Given the description of an element on the screen output the (x, y) to click on. 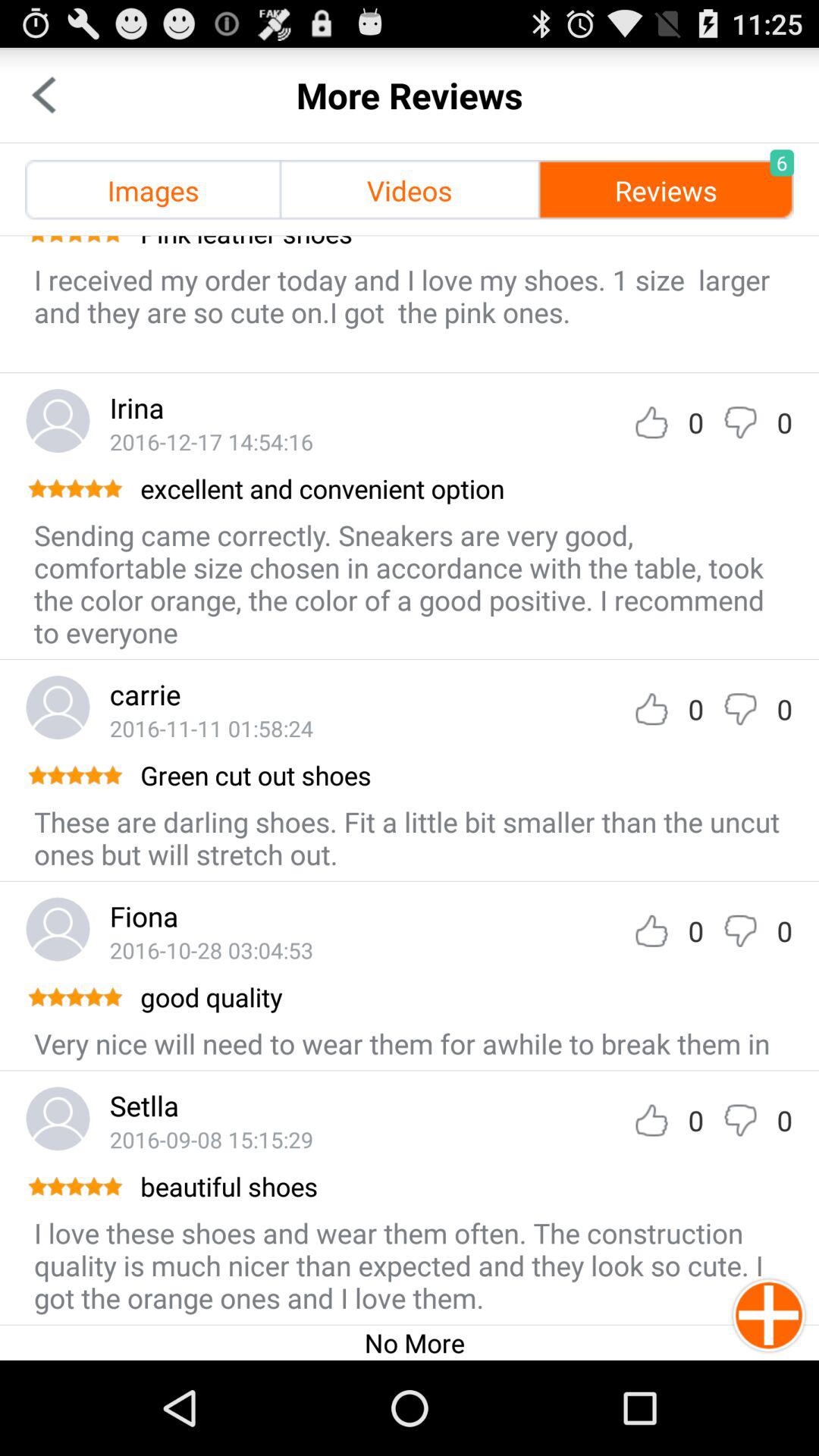
give review a thumbs down (740, 422)
